Given the description of an element on the screen output the (x, y) to click on. 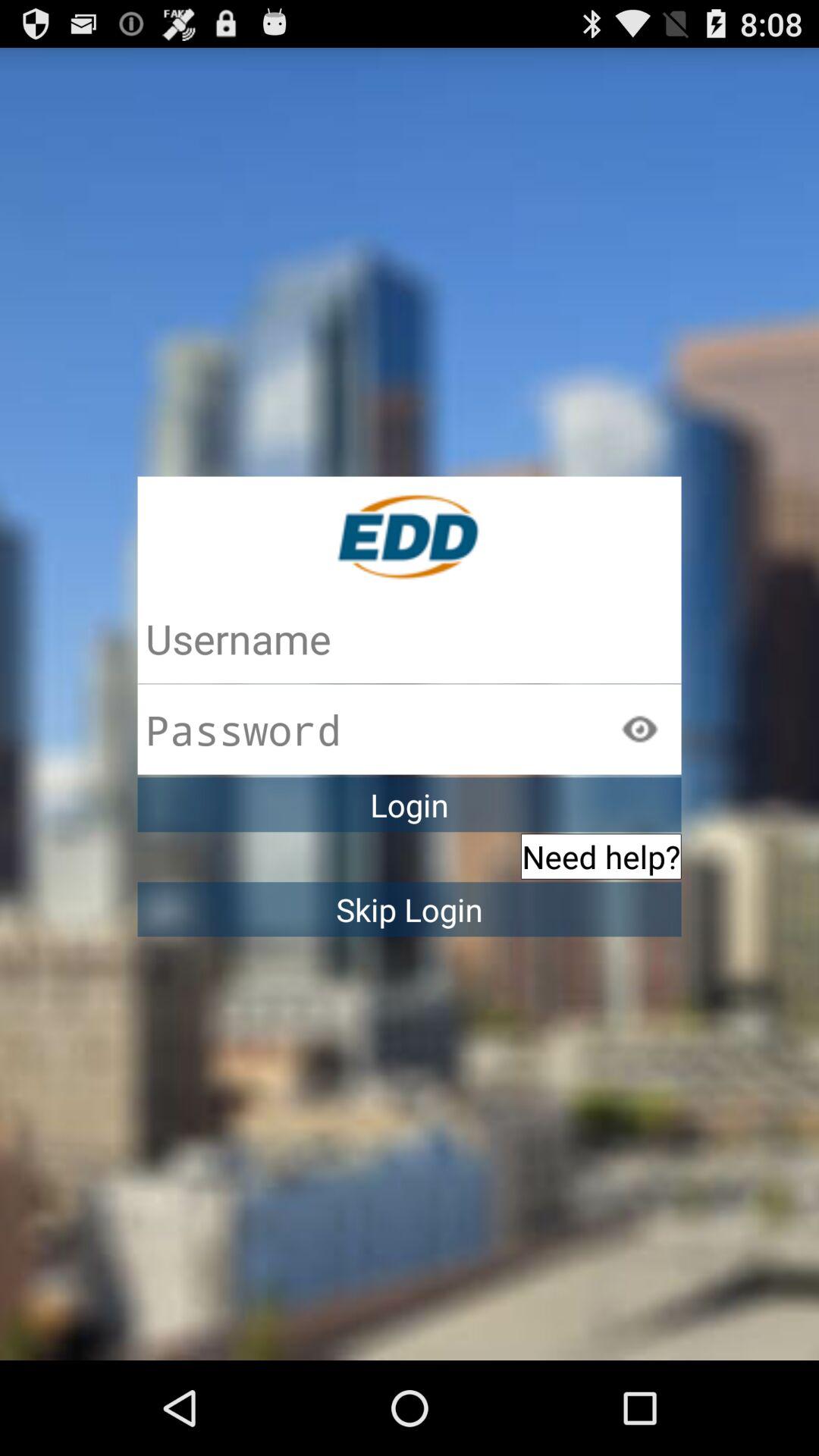
select the item above login (639, 729)
